Given the description of an element on the screen output the (x, y) to click on. 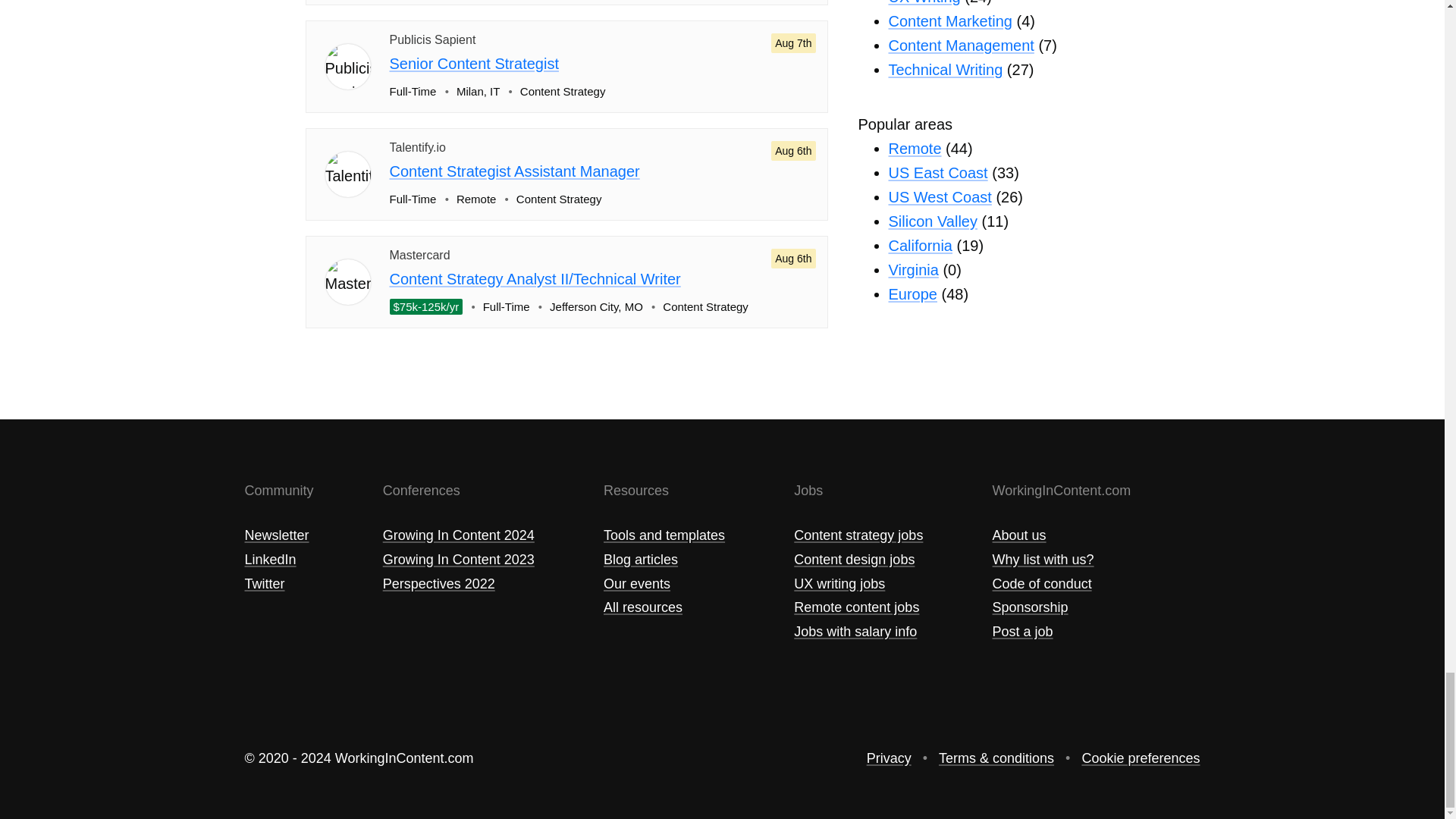
US East Coast (938, 172)
Technical Writing (945, 69)
Content Strategist Assistant Manager (515, 170)
US West Coast (939, 197)
Silicon Valley (932, 221)
Remote (915, 148)
Content Management (960, 45)
Senior Content Strategist (474, 63)
Content Marketing (949, 21)
UX Writing (924, 2)
